Given the description of an element on the screen output the (x, y) to click on. 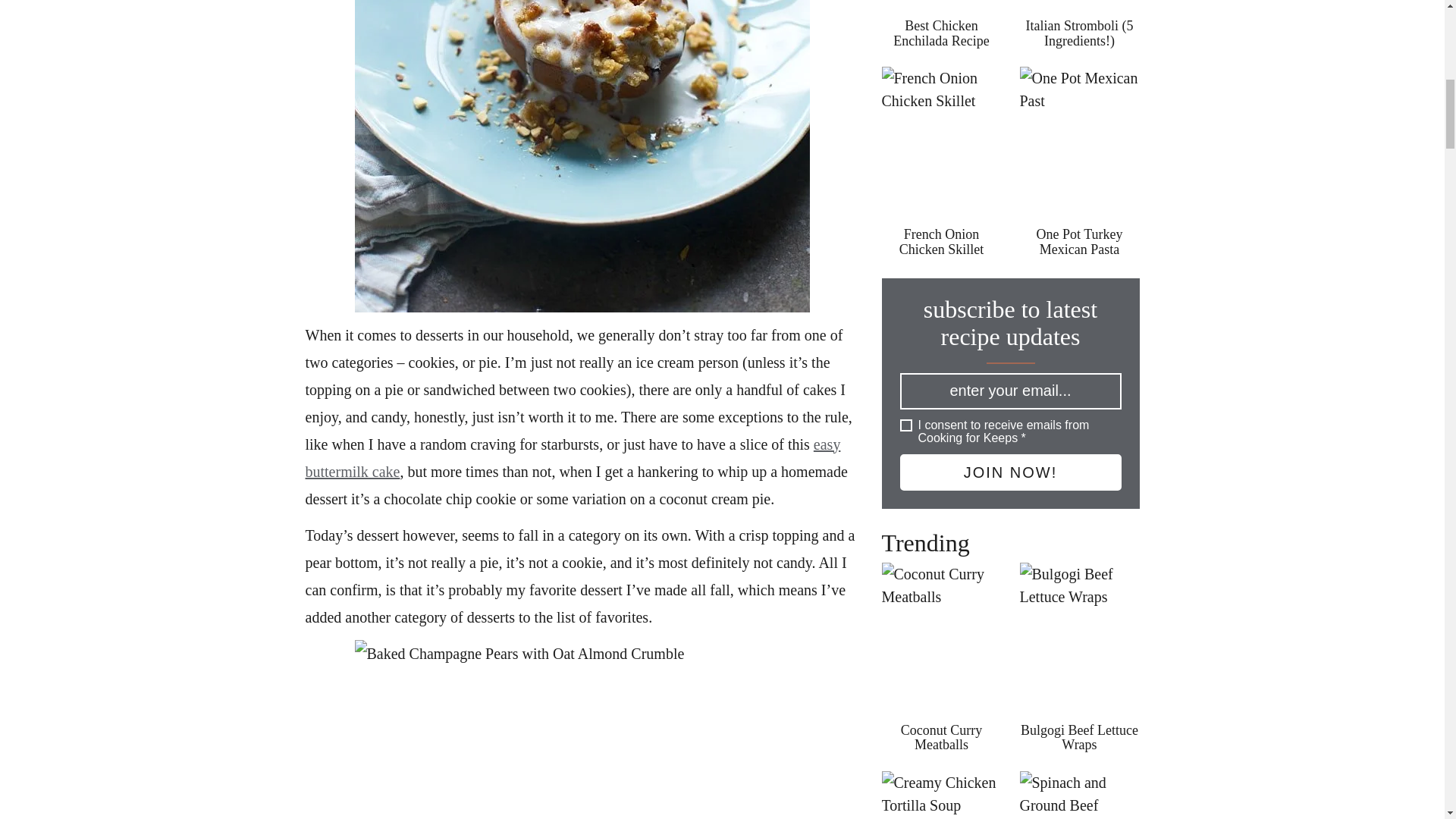
 I consent to receive emails from Cooking for Keeps (905, 425)
